Given the description of an element on the screen output the (x, y) to click on. 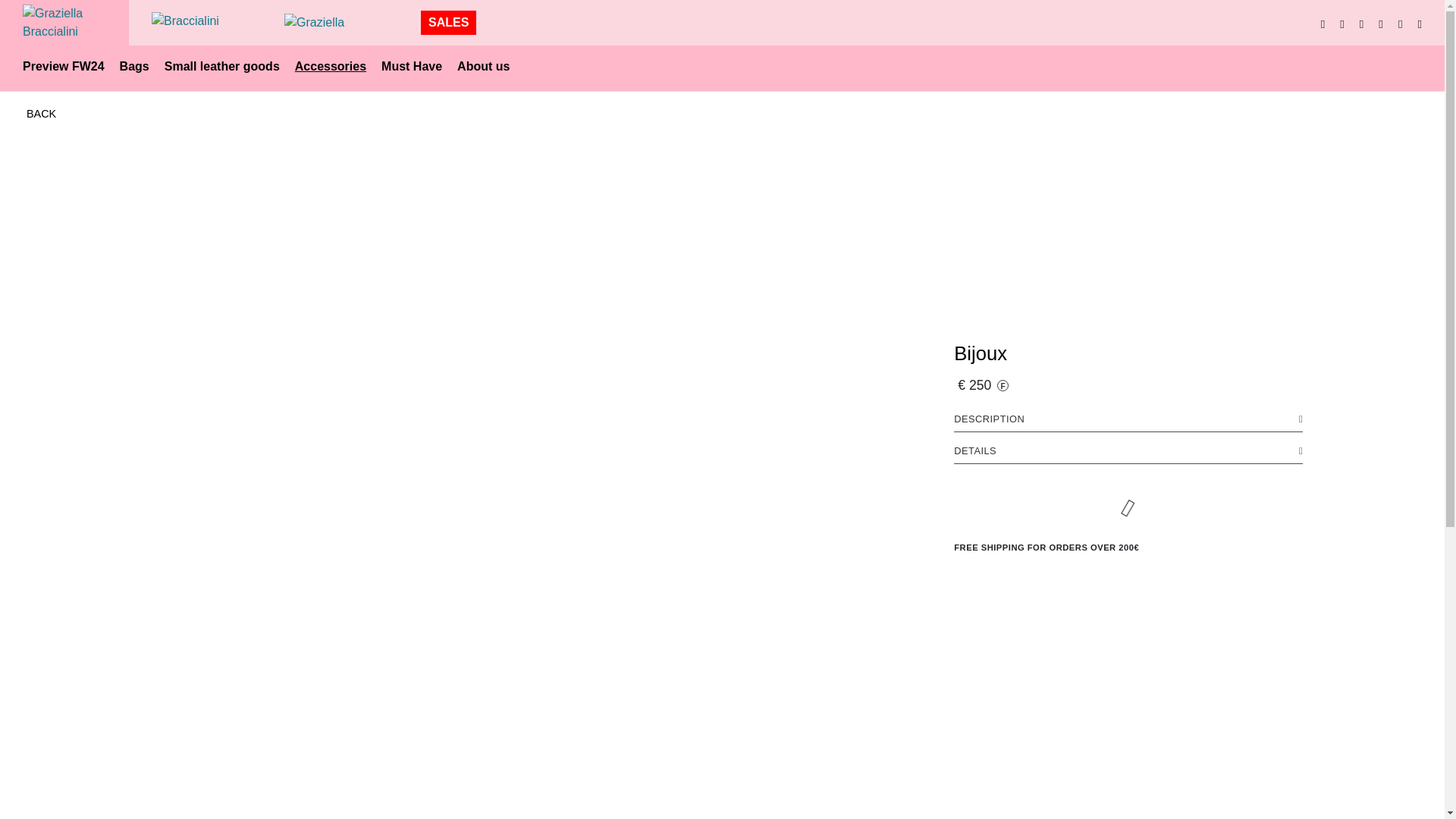
SALES (448, 22)
Accessories (330, 65)
Must Have (411, 65)
BACK (41, 114)
About us (482, 65)
Preview FW24 (63, 65)
Bags (134, 65)
Small leather goods (221, 65)
